Given the description of an element on the screen output the (x, y) to click on. 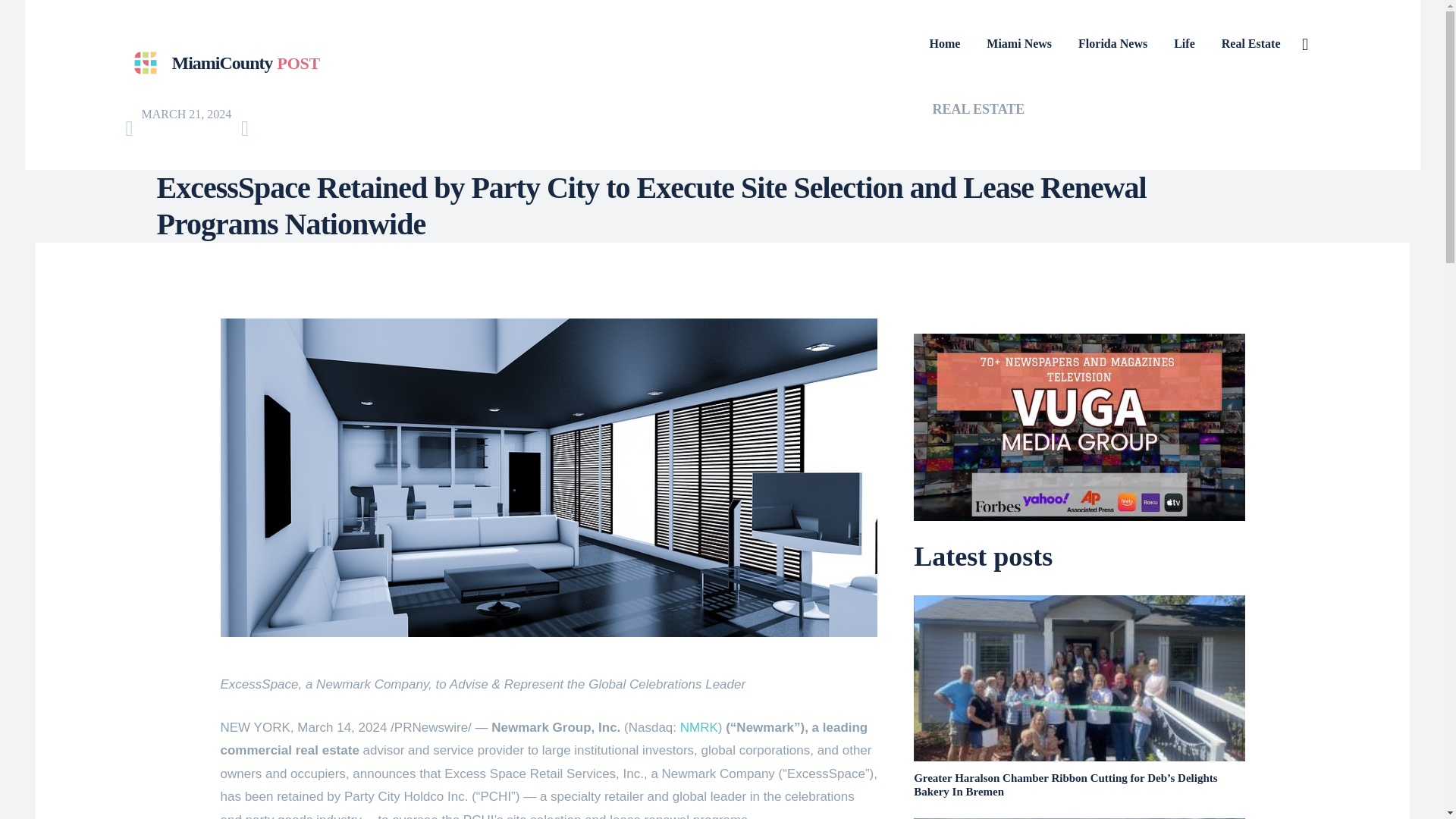
Florida News (1112, 43)
REAL ESTATE (979, 109)
Miami County Post (221, 63)
Miami News (1018, 43)
Real Estate (221, 63)
NMRK (1250, 43)
Home (698, 727)
